Given the description of an element on the screen output the (x, y) to click on. 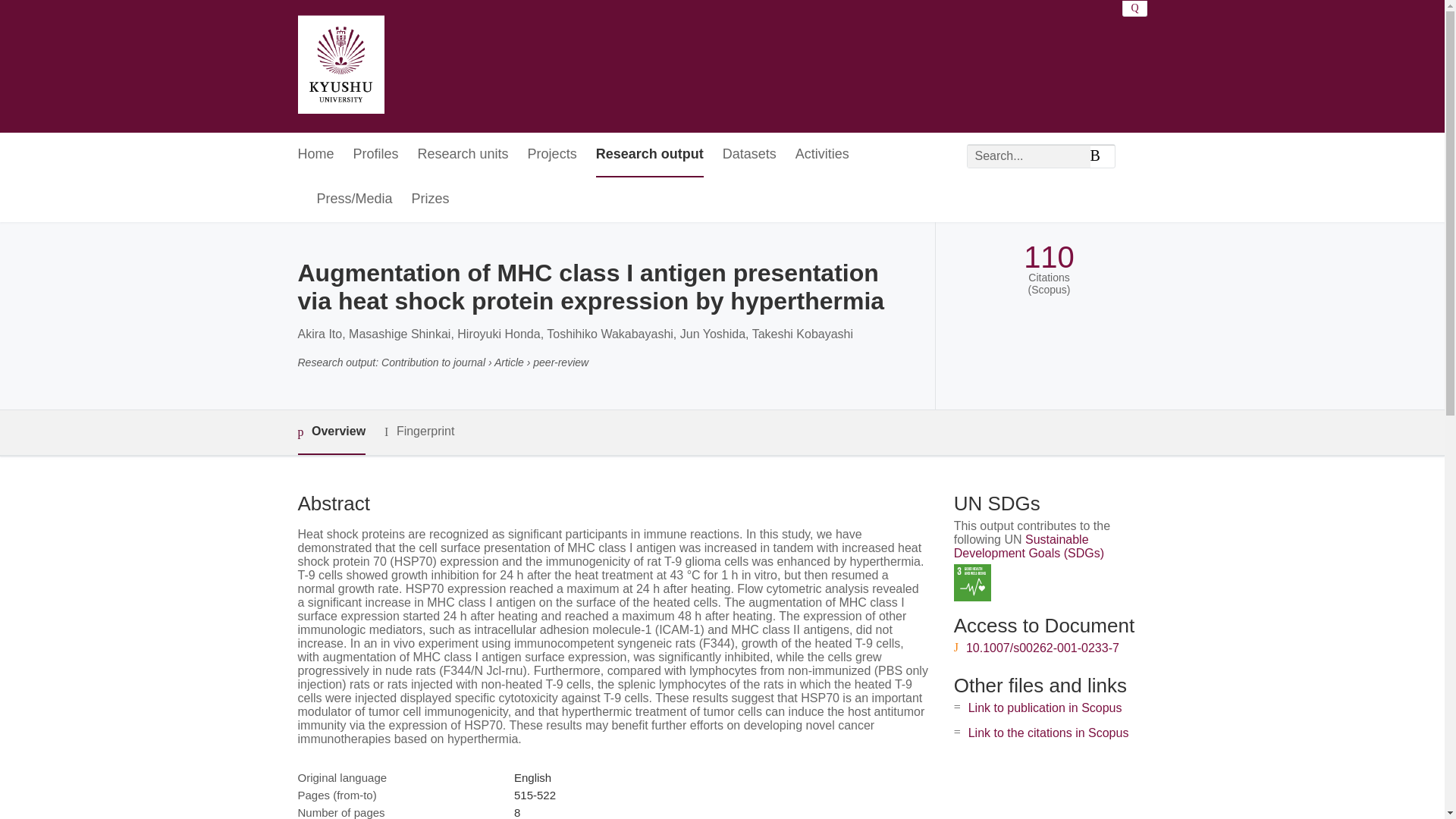
110 (1048, 257)
Research units (462, 154)
Fingerprint (419, 431)
Projects (551, 154)
Datasets (749, 154)
Link to the citations in Scopus (1048, 732)
Research output (649, 154)
Profiles (375, 154)
Link to publication in Scopus (1045, 707)
